Given the description of an element on the screen output the (x, y) to click on. 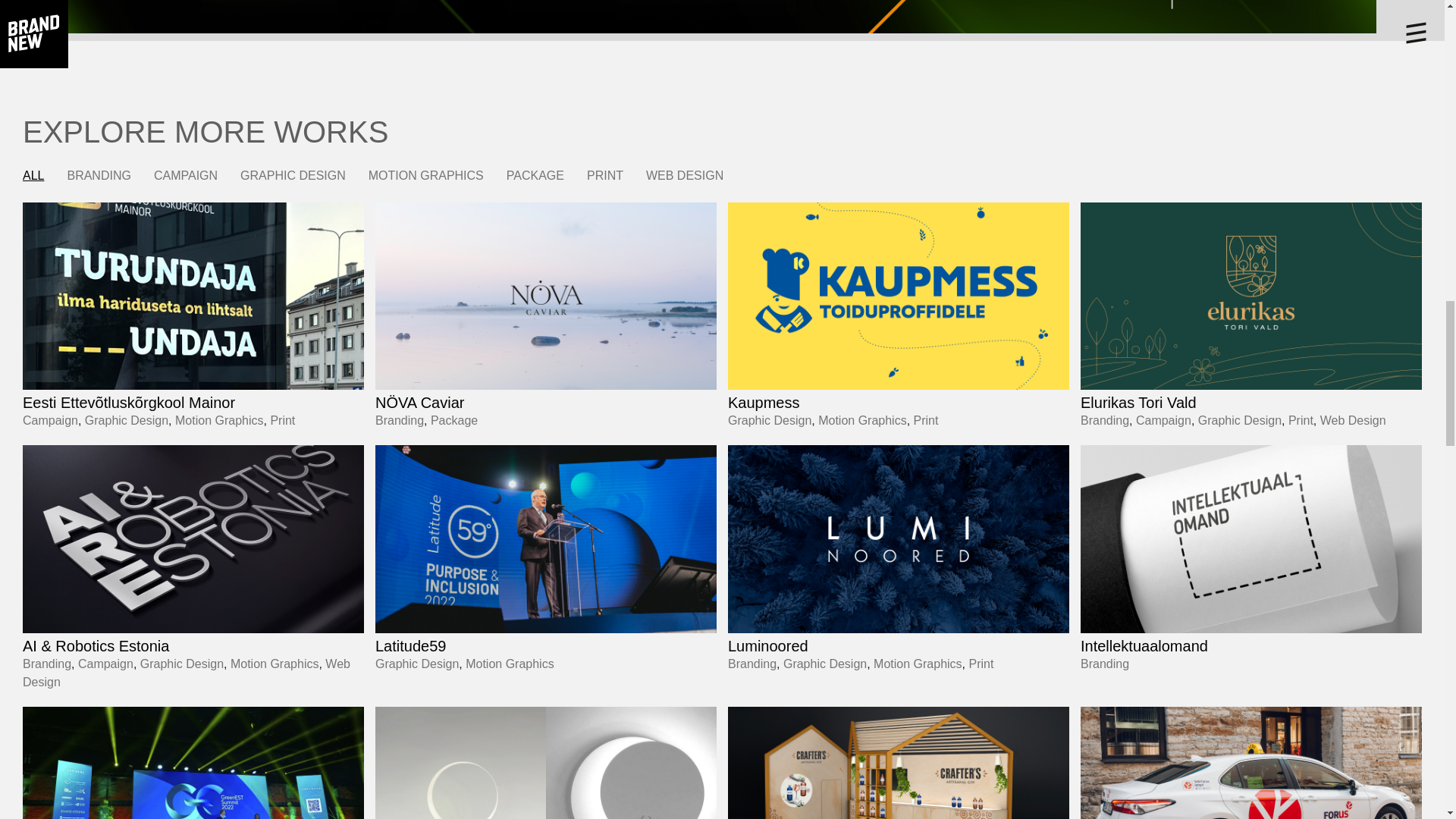
Graphic Design (769, 420)
Campaign (50, 420)
Package (453, 420)
Motion Graphics (218, 420)
Web Design (1353, 420)
Motion Graphics (862, 420)
GRAPHIC DESIGN (293, 175)
Graphic Design (126, 420)
Print (1300, 420)
Graphic Design (1239, 420)
BRANDING (98, 175)
Elurikas Tori Vald (1138, 402)
Branding (1104, 420)
Print (282, 420)
Kaupmess (763, 402)
